Given the description of an element on the screen output the (x, y) to click on. 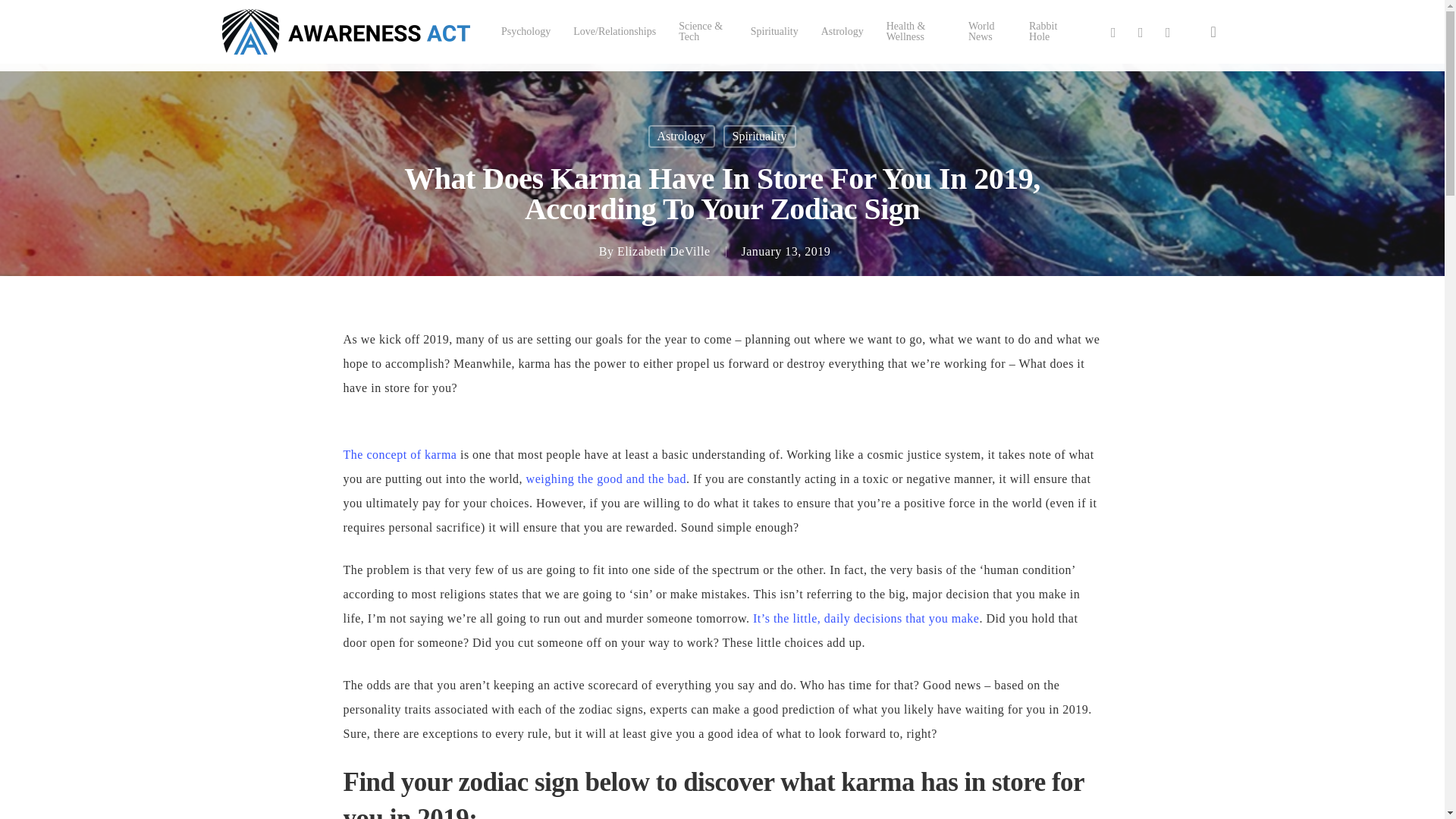
Privacy     (832, 806)
Rabbit Hole (1047, 31)
Legal (751, 806)
Psychology (525, 31)
Elizabeth DeVille (663, 250)
weighing the good and the bad (605, 478)
Disclosure (873, 806)
Instagram (1167, 31)
DMCA (787, 806)
Spirituality (774, 31)
